Given the description of an element on the screen output the (x, y) to click on. 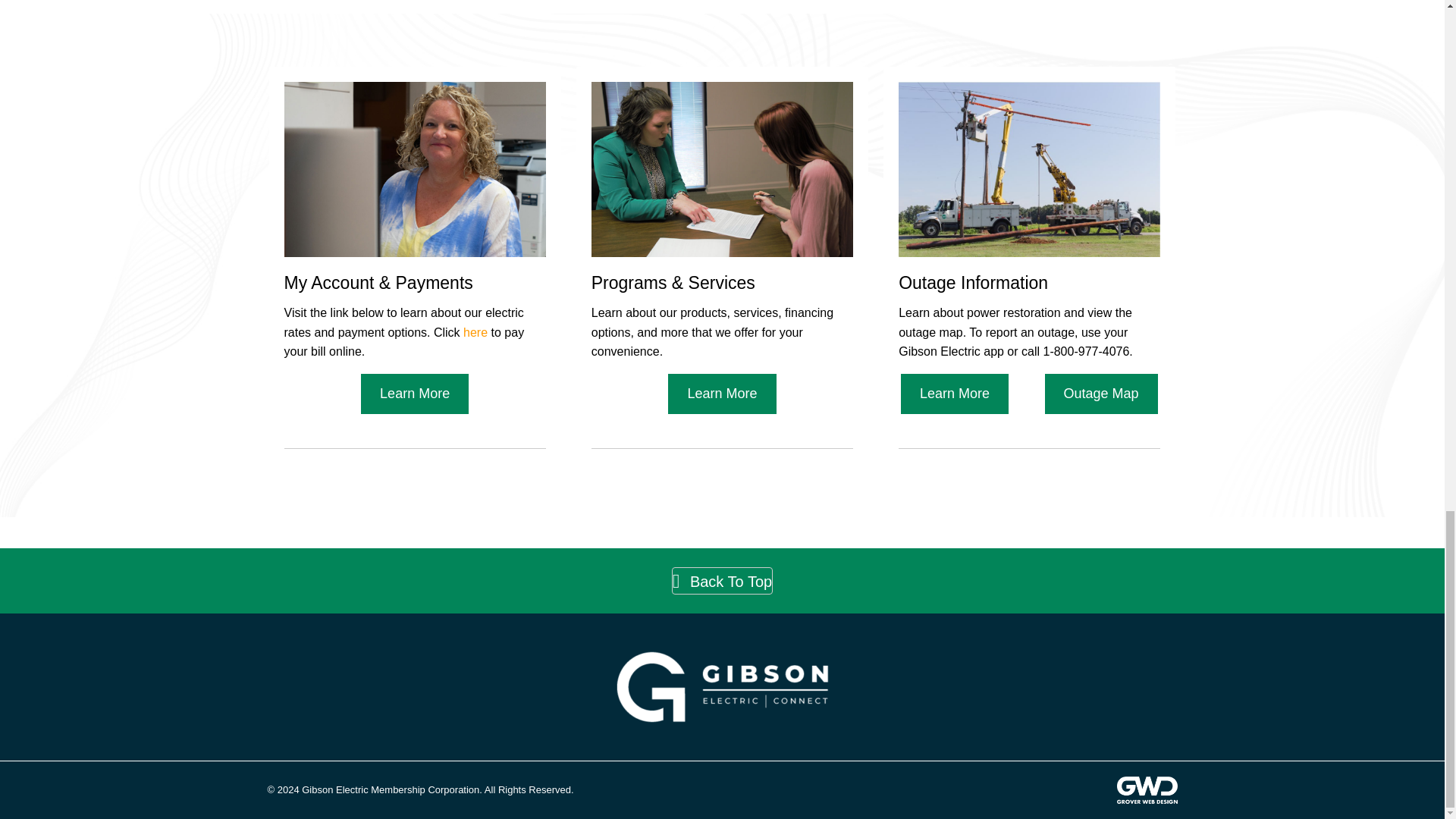
here (475, 332)
Outage Map (1101, 393)
Back To Top (722, 580)
Learn More (414, 393)
Learn More (722, 393)
Gwd-logo-W (1146, 789)
Learn More (955, 393)
eb98cf0b-0a6e-46e3-8f09-3ced8c3db3ff (721, 686)
